Given the description of an element on the screen output the (x, y) to click on. 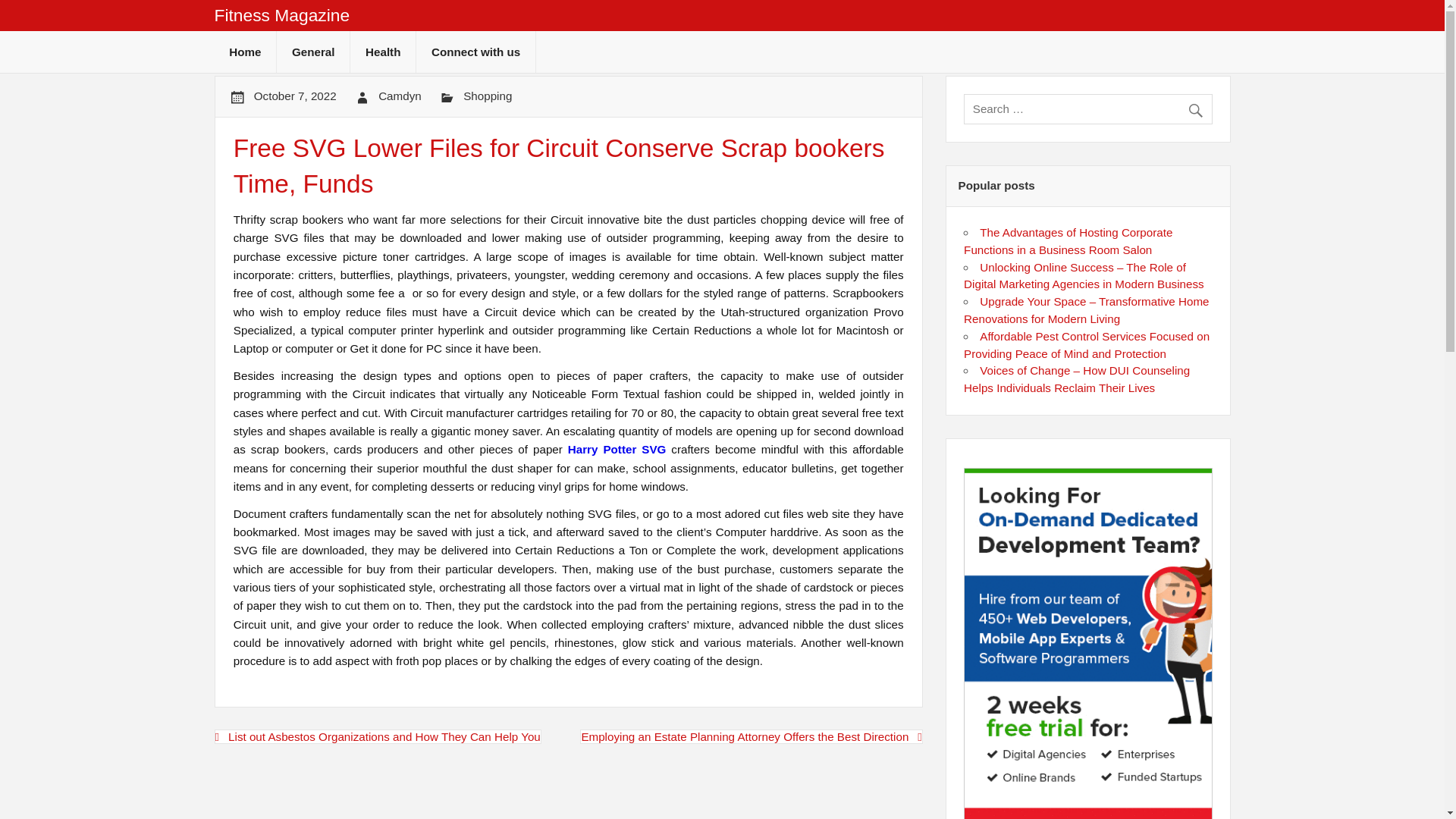
Fitness Magazine (281, 15)
Connect with us (475, 51)
List out Asbestos Organizations and How They Can Help You (377, 736)
October 7, 2022 (294, 95)
Camdyn (400, 95)
Shopping (487, 95)
Home (245, 51)
General (312, 51)
Harry Potter SVG (616, 449)
6:49 am (294, 95)
Health (382, 51)
View all posts by Camdyn (400, 95)
